Given the description of an element on the screen output the (x, y) to click on. 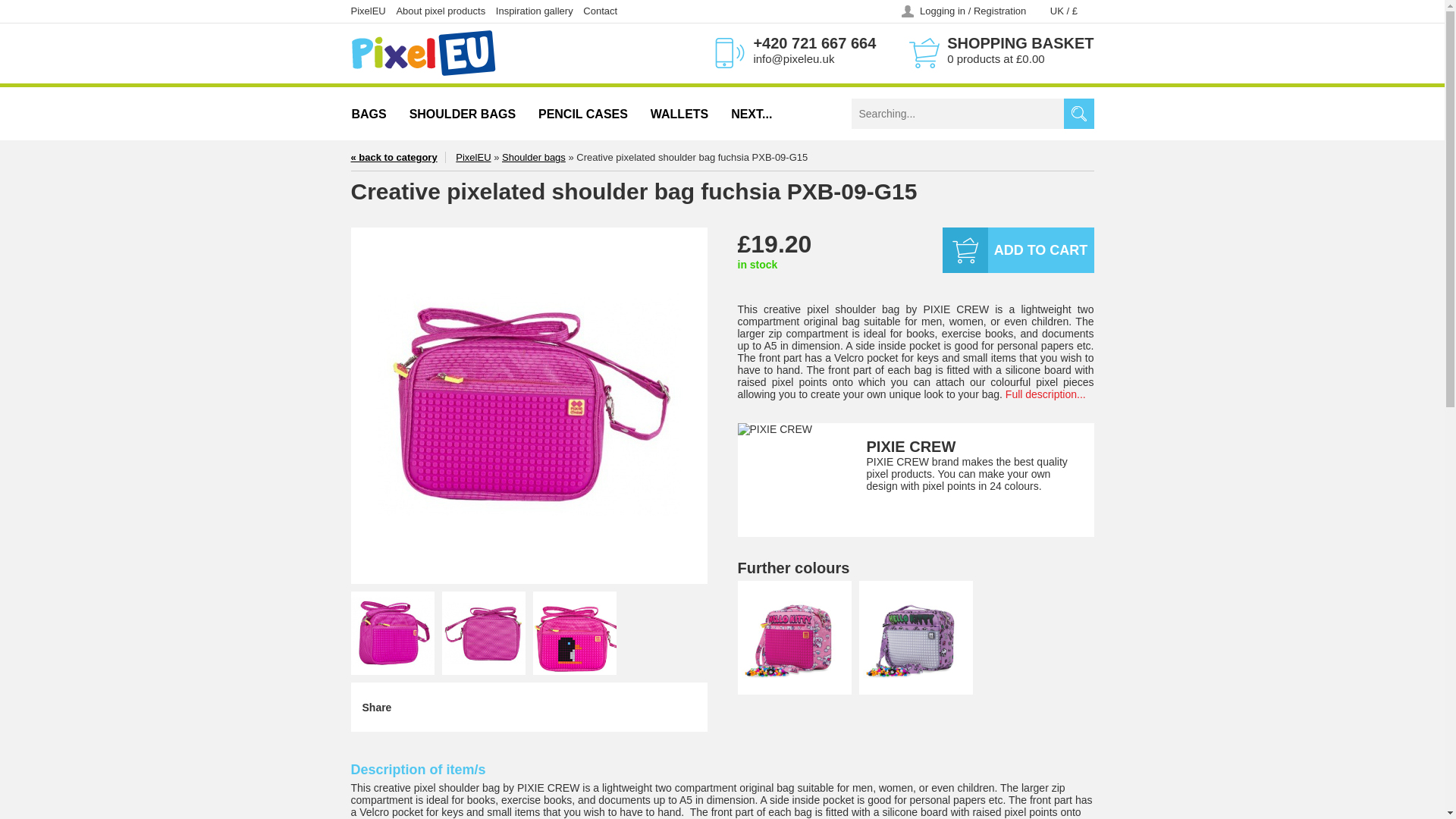
BAGS (373, 115)
Registration (1000, 10)
NEXT... (750, 115)
Creative pixelated shoulder bag fuchsia PXB-09-G15 (482, 632)
ADD TO CART (1017, 249)
Inspiration gallery (534, 10)
WALLETS (678, 115)
SHOULDER BAGS (461, 115)
Full description... (1046, 394)
Creative pixelated shoulder bag fuchsia PXB-09-G15 (391, 632)
